Given the description of an element on the screen output the (x, y) to click on. 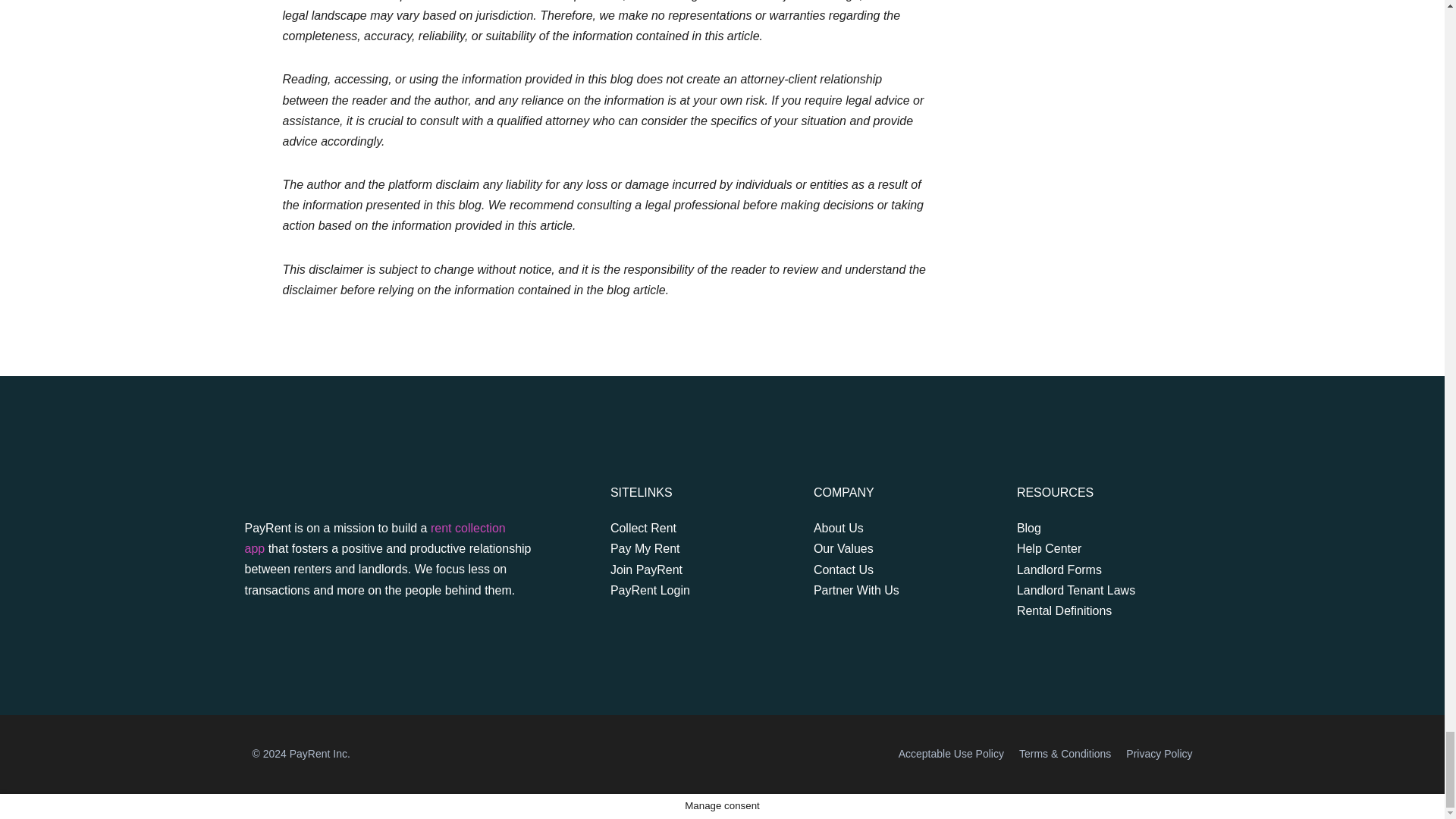
Contact Us (884, 569)
Our Values (884, 548)
